Given the description of an element on the screen output the (x, y) to click on. 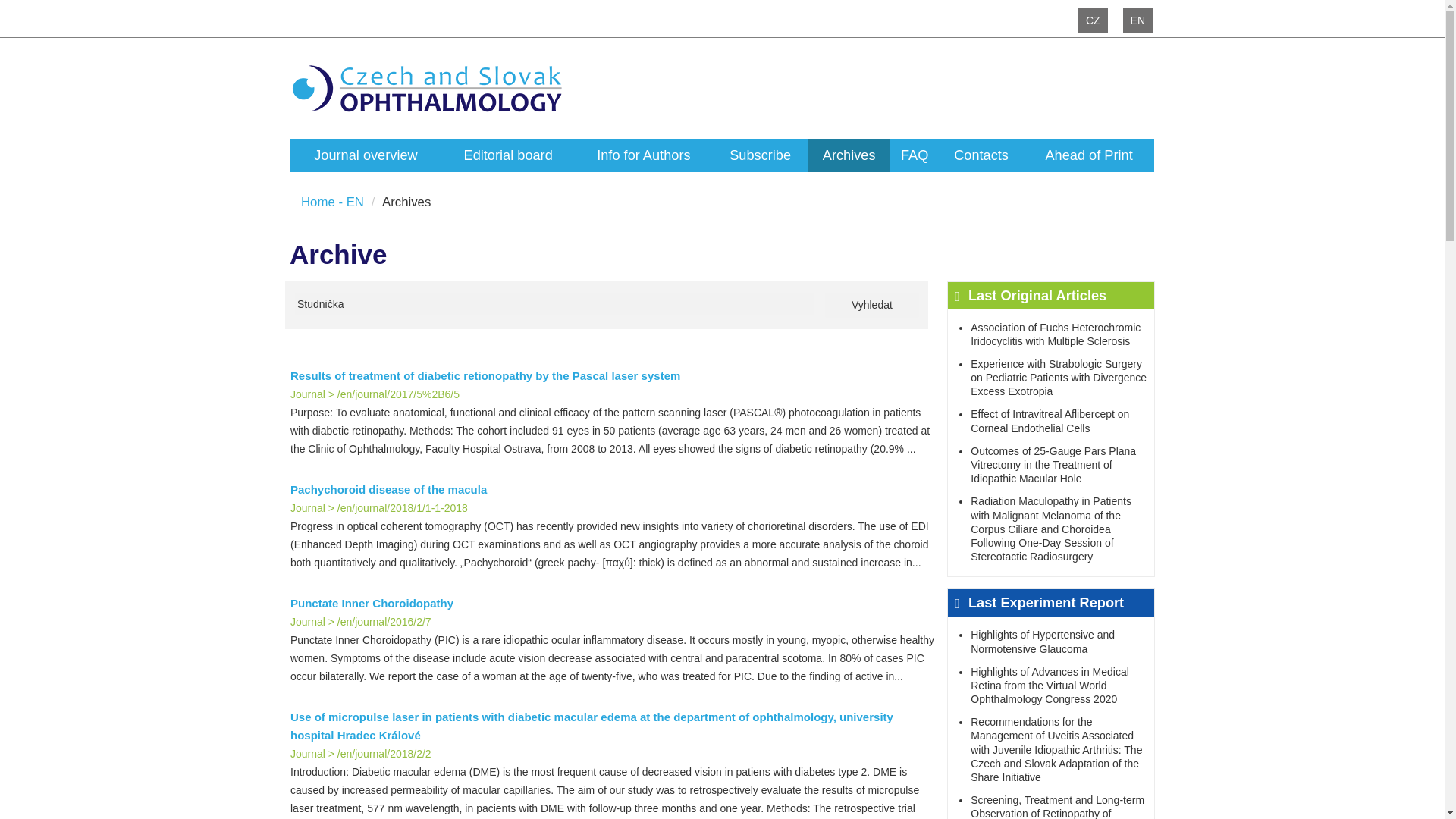
CZ (1093, 20)
Punctate Inner Choroidopathy (612, 603)
Subscribe (760, 154)
EN (1137, 20)
FAQ (914, 154)
Home - EN (332, 201)
Contacts (981, 154)
Info for Authors (643, 154)
Ahead of Print (1088, 154)
